Given the description of an element on the screen output the (x, y) to click on. 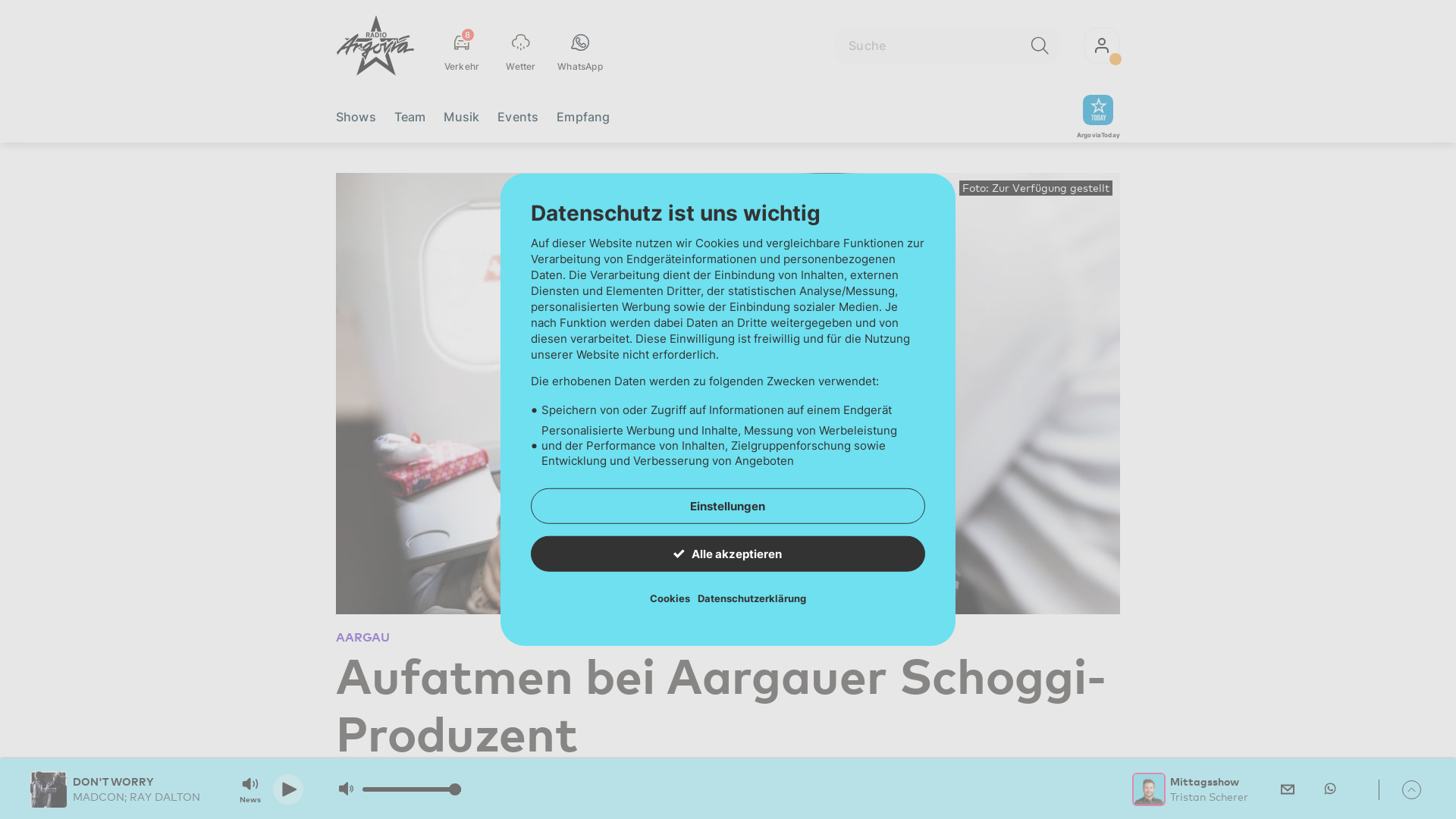
Alle akzeptieren Element type: text (727, 553)
8
Verkehr Element type: text (461, 45)
Shows Element type: text (355, 116)
Events Element type: text (517, 116)
News Element type: text (250, 789)
Wetter Element type: text (520, 45)
ArgoviaToday Element type: text (1098, 116)
Team Element type: text (410, 116)
Empfang Element type: text (582, 116)
Cookies Element type: text (669, 597)
Musik Element type: text (461, 116)
Einstellungen Element type: text (727, 505)
